Given the description of an element on the screen output the (x, y) to click on. 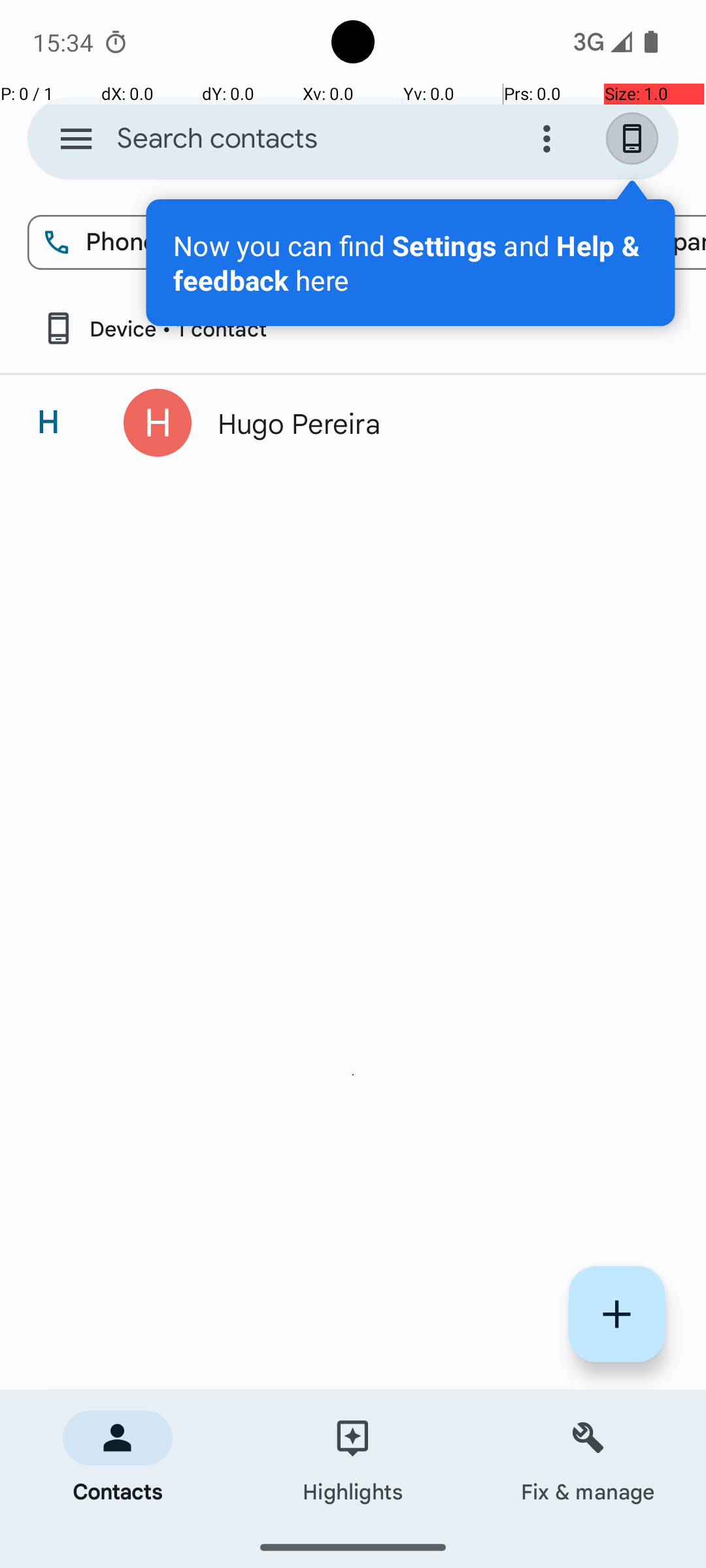
Device • 1 contact Element type: android.widget.TextView (153, 328)
Hugo Pereira Element type: android.widget.TextView (434, 422)
